Given the description of an element on the screen output the (x, y) to click on. 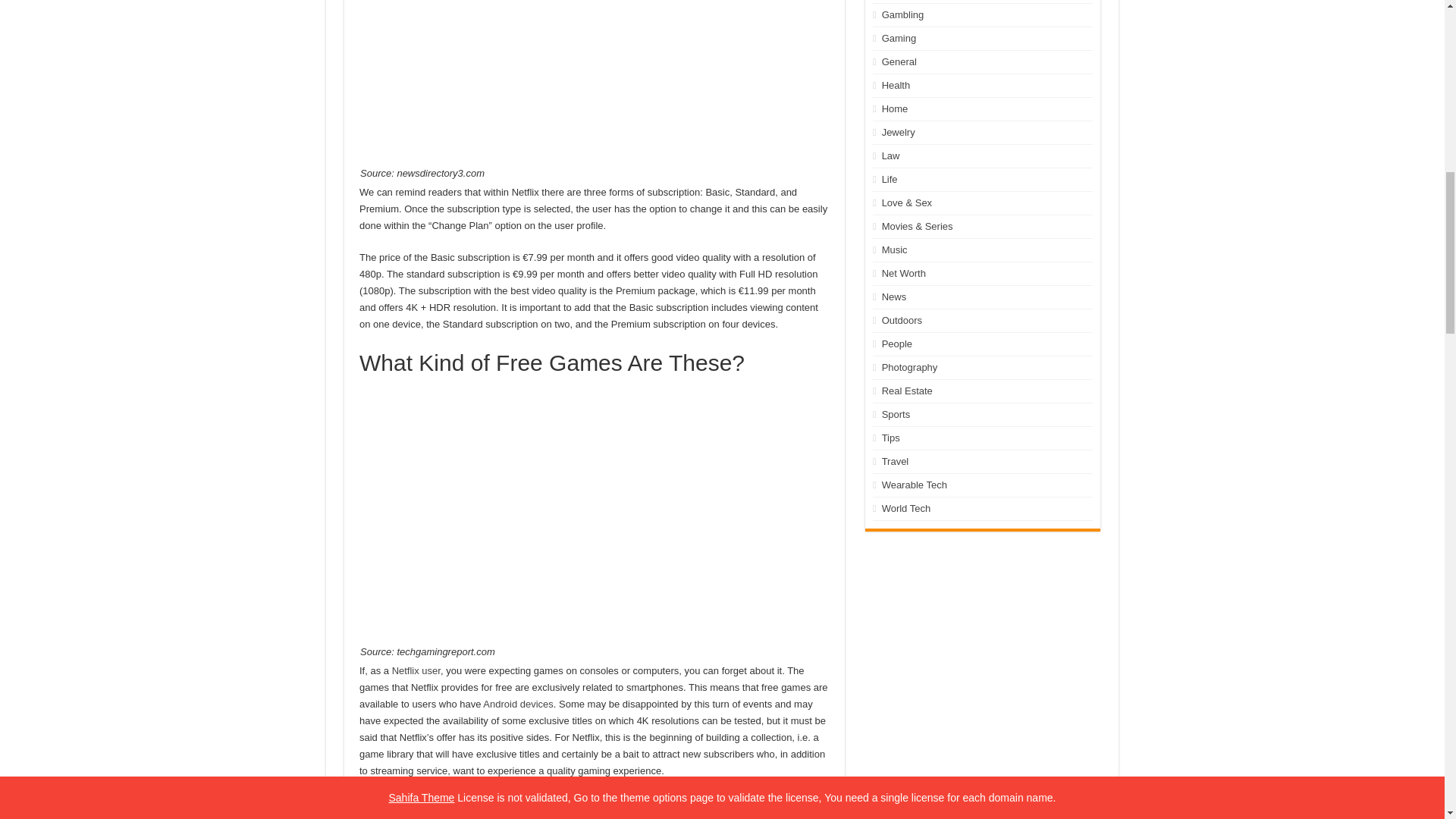
Android devices (518, 704)
Netflix user (416, 670)
Scroll To Top (1421, 60)
